Given the description of an element on the screen output the (x, y) to click on. 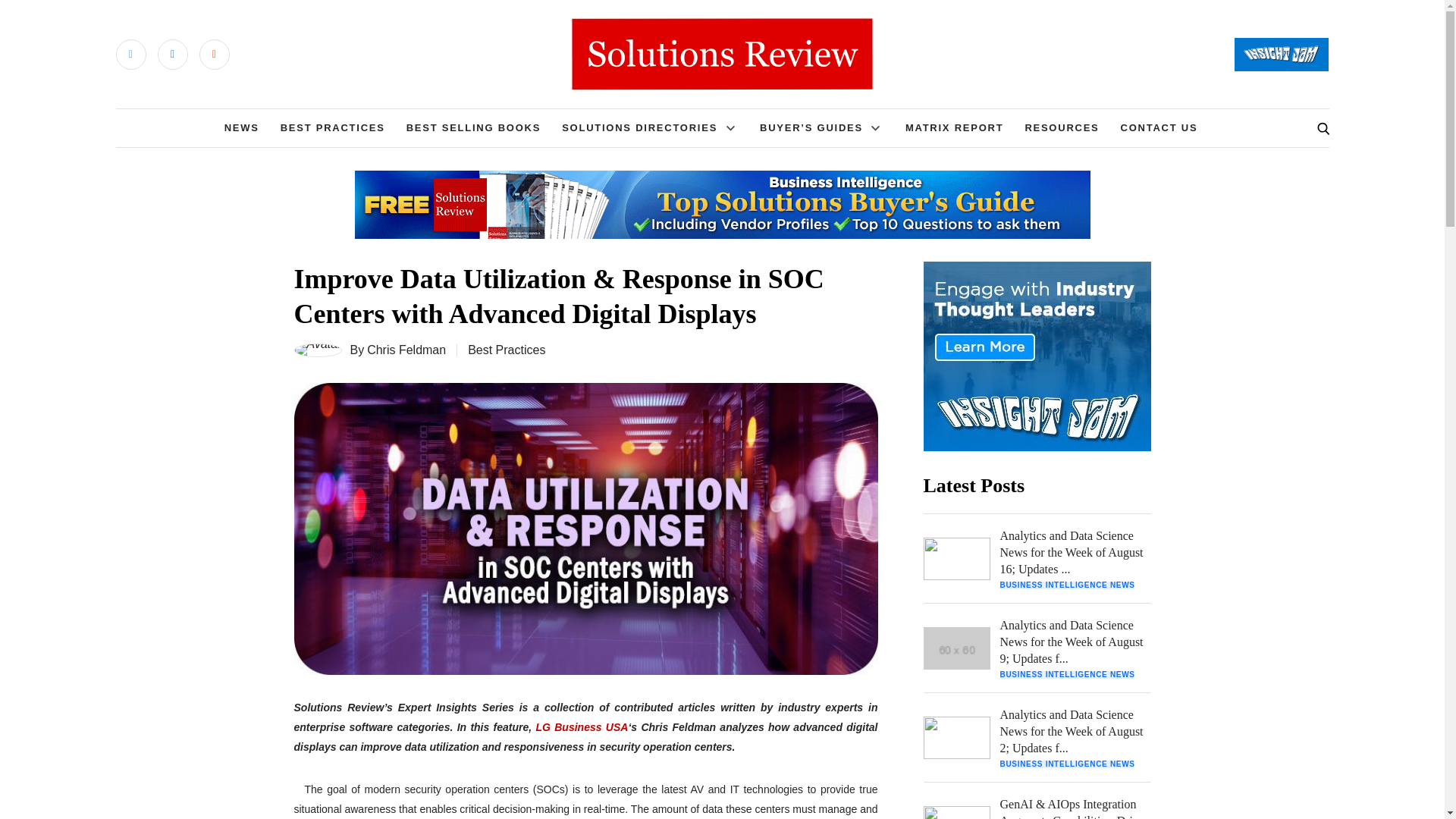
LG Business USA (581, 727)
BEST SELLING BOOKS (473, 127)
SOLUTIONS DIRECTORIES (639, 127)
BEST PRACTICES (333, 127)
Chris Feldman (405, 350)
Insight Jam Ad (1037, 356)
CONTACT US (1159, 127)
Best Practices (505, 349)
NEWS (241, 127)
RESOURCES (1062, 127)
